Given the description of an element on the screen output the (x, y) to click on. 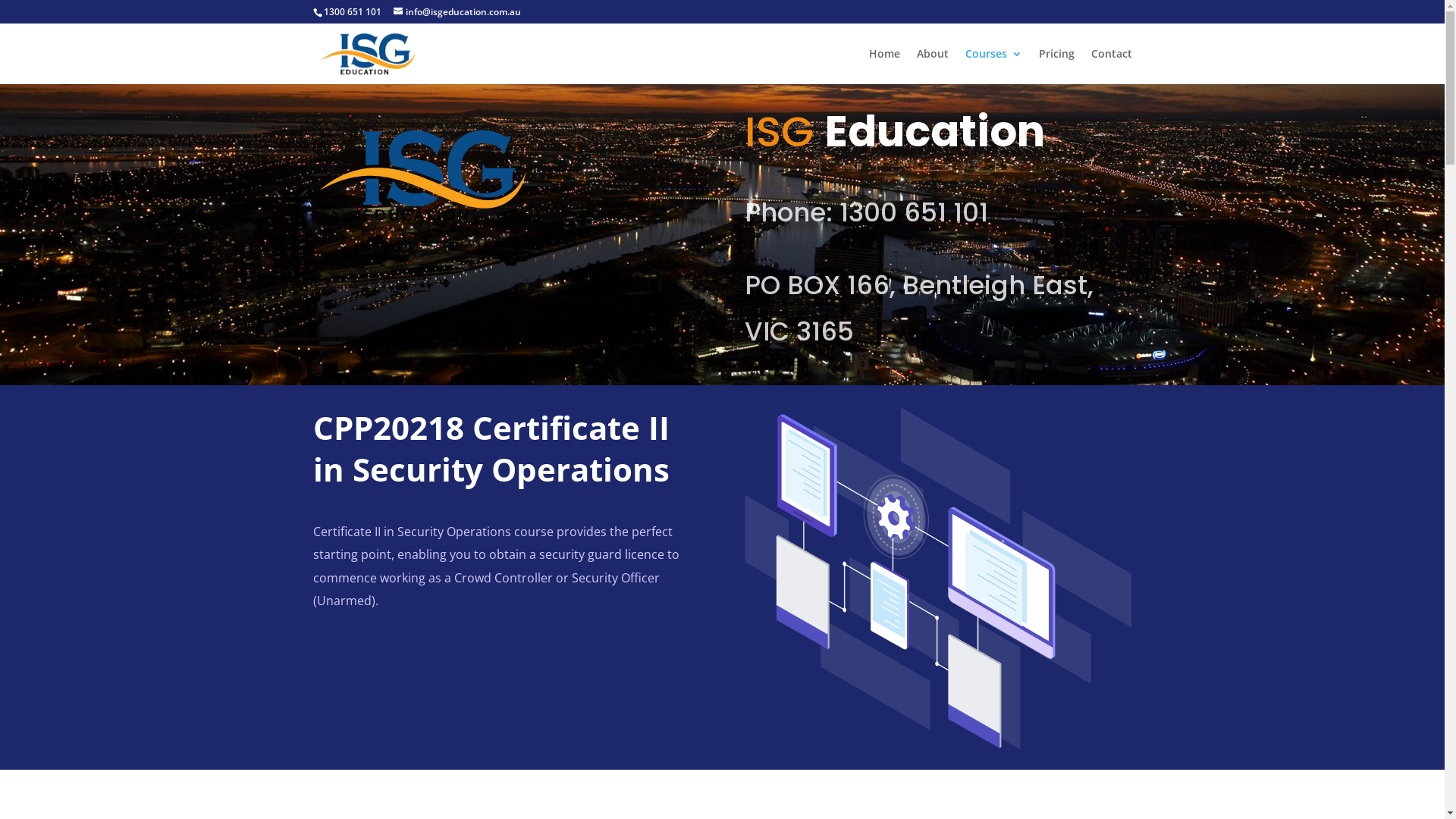
Pricing Element type: text (1056, 66)
Courses Element type: text (992, 66)
info@isgeducation.com.au Element type: text (456, 11)
About Element type: text (931, 66)
ISG_EDu-new22(v2) Element type: hover (421, 175)
Home Element type: text (884, 66)
Contact Element type: text (1110, 66)
